Given the description of an element on the screen output the (x, y) to click on. 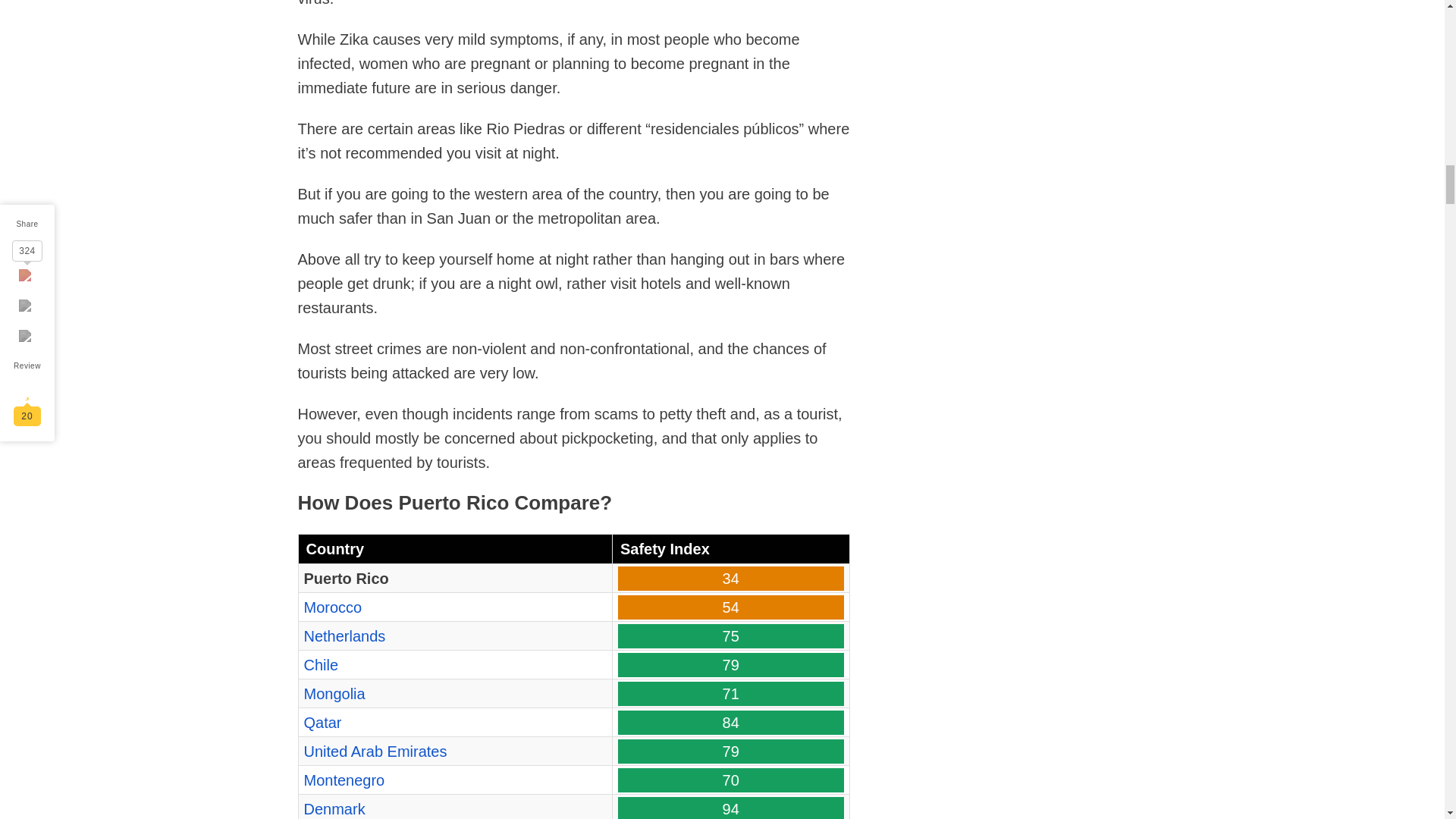
Netherlands (343, 636)
Qatar Safety Review (321, 722)
Qatar (321, 722)
Montenegro (343, 780)
Montenegro Safety Review (343, 780)
Morocco Safety Review (331, 606)
Mongolia (333, 693)
Chile (319, 664)
Netherlands Safety Review (343, 636)
Mongolia Safety Review (333, 693)
Denmark Safety Review (333, 808)
Morocco (331, 606)
Denmark (333, 808)
Chile Safety Review (319, 664)
United Arab Emirates Safety Review (374, 751)
